Given the description of an element on the screen output the (x, y) to click on. 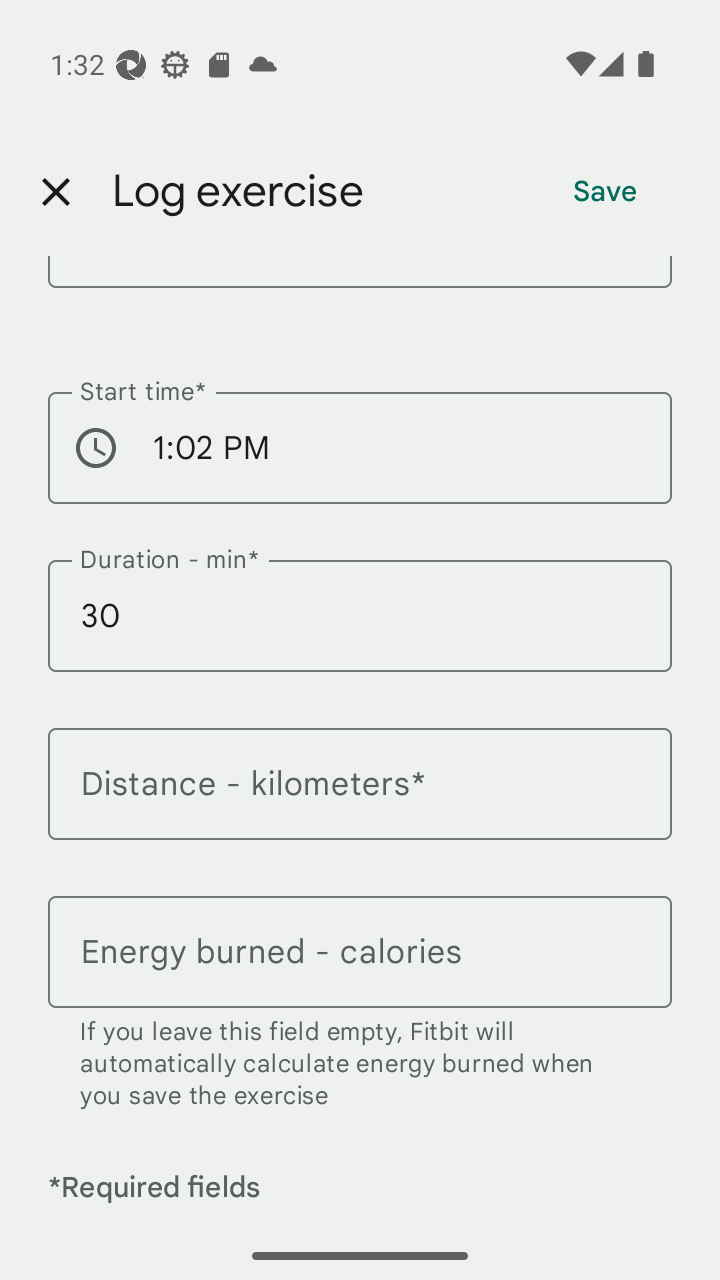
Close (55, 191)
Save (605, 191)
1:02 PM Start time* (359, 460)
30 Duration - min* (359, 627)
Distance - kilometers* (359, 795)
